Given the description of an element on the screen output the (x, y) to click on. 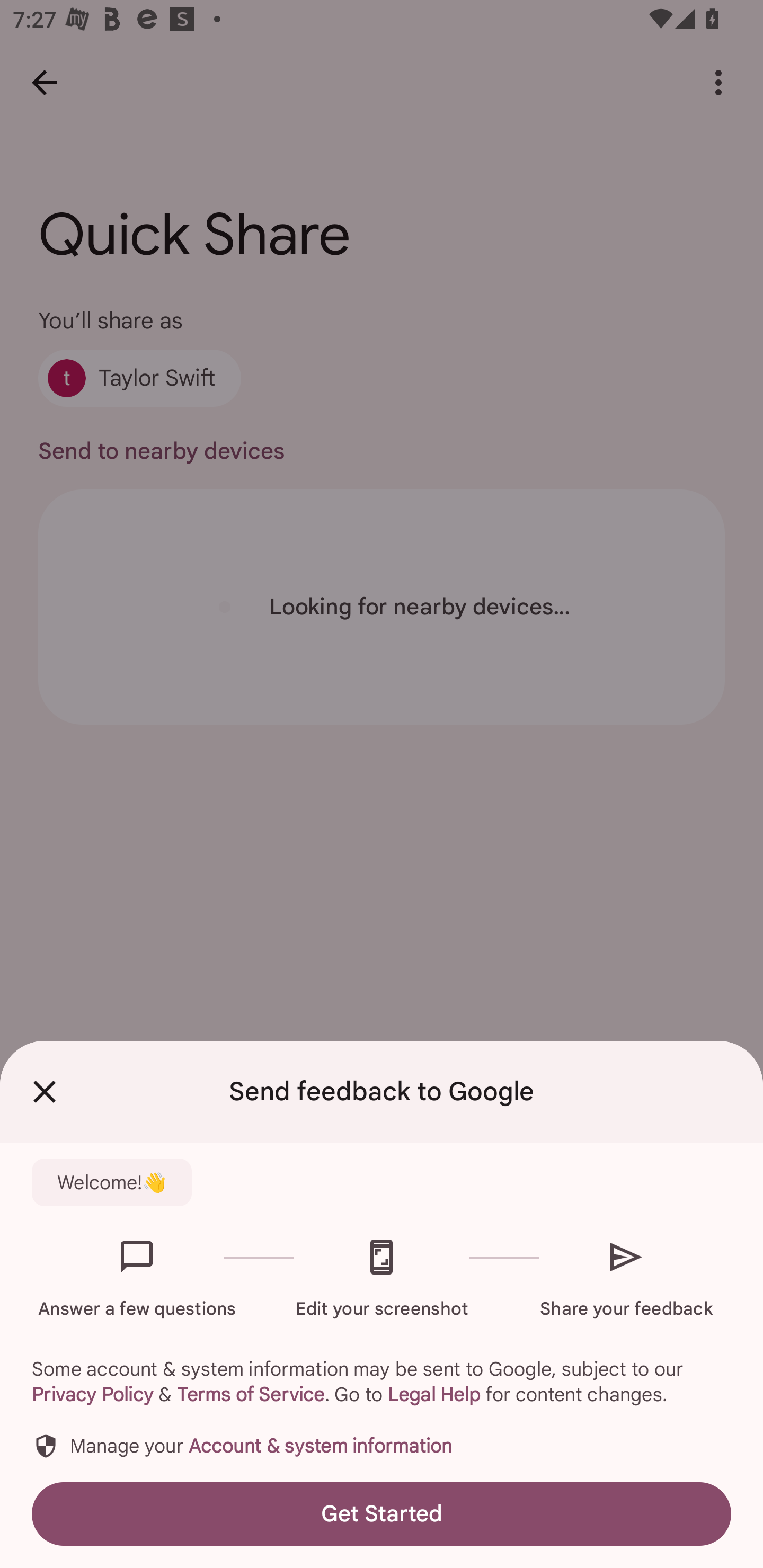
Close Feedback (44, 1091)
Get Started (381, 1513)
